Given the description of an element on the screen output the (x, y) to click on. 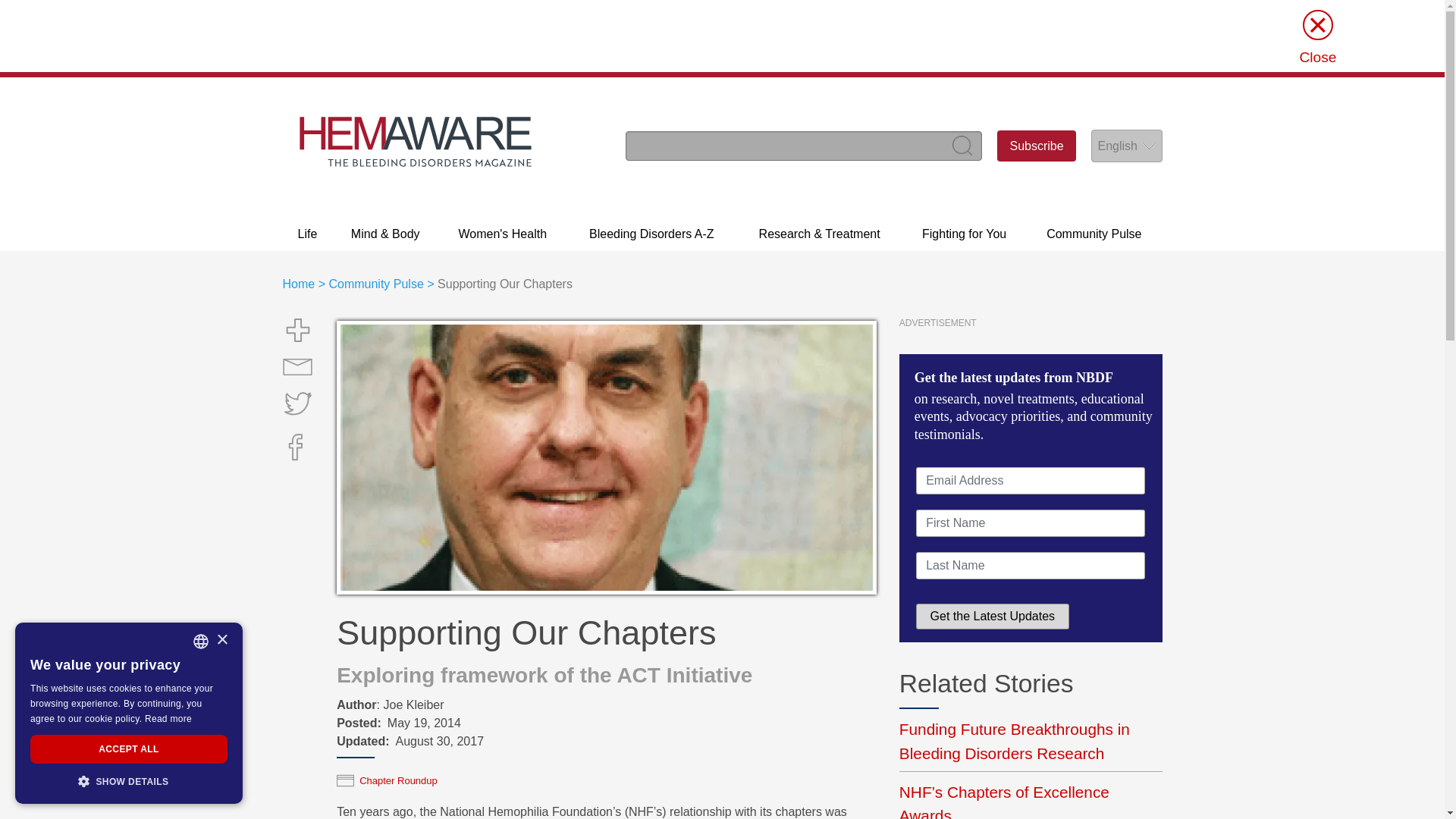
Subscribe (1035, 145)
Women's Health (502, 233)
Life (306, 233)
Search (961, 145)
Fighting for You (964, 233)
Bleeding Disorders A-Z (651, 233)
Women's Health (502, 233)
Search (961, 145)
Bleeding Disorders A-Z (651, 233)
